Given the description of an element on the screen output the (x, y) to click on. 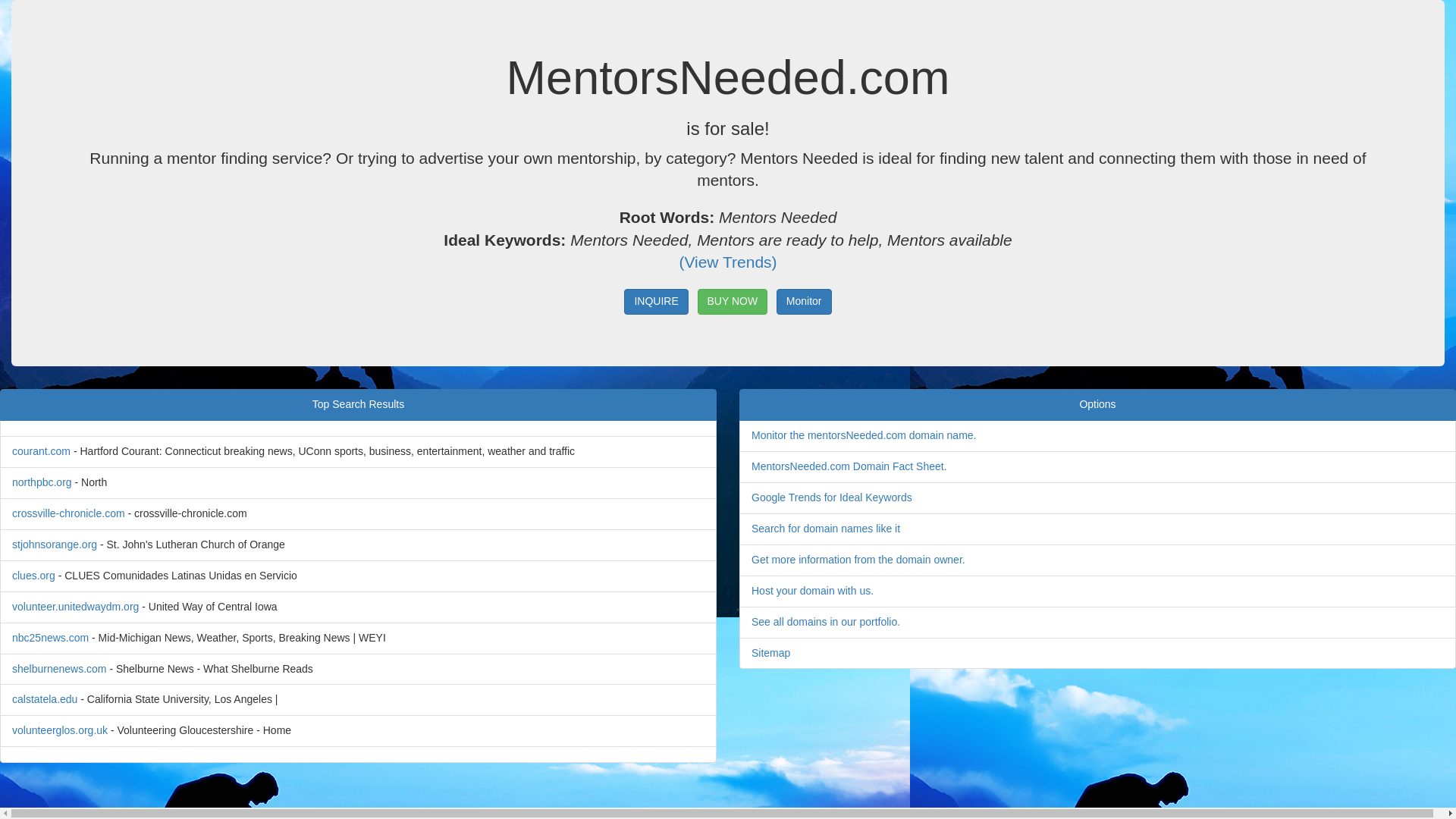
See all domains in our portfolio. (825, 621)
volunteerglos.org.uk (59, 729)
Search for domain names like it (825, 528)
northpbc.org (41, 481)
calstatela.edu (44, 698)
nbc25news.com (49, 637)
MentorsNeeded.com Domain Fact Sheet. (849, 466)
BUY NOW (732, 301)
INQUIRE (655, 301)
Sitemap (770, 652)
Monitor (803, 301)
Host your domain with us. (812, 590)
volunteer.unitedwaydm.org (74, 606)
shelburnenews.com (58, 668)
crossville-chronicle.com (68, 512)
